Given the description of an element on the screen output the (x, y) to click on. 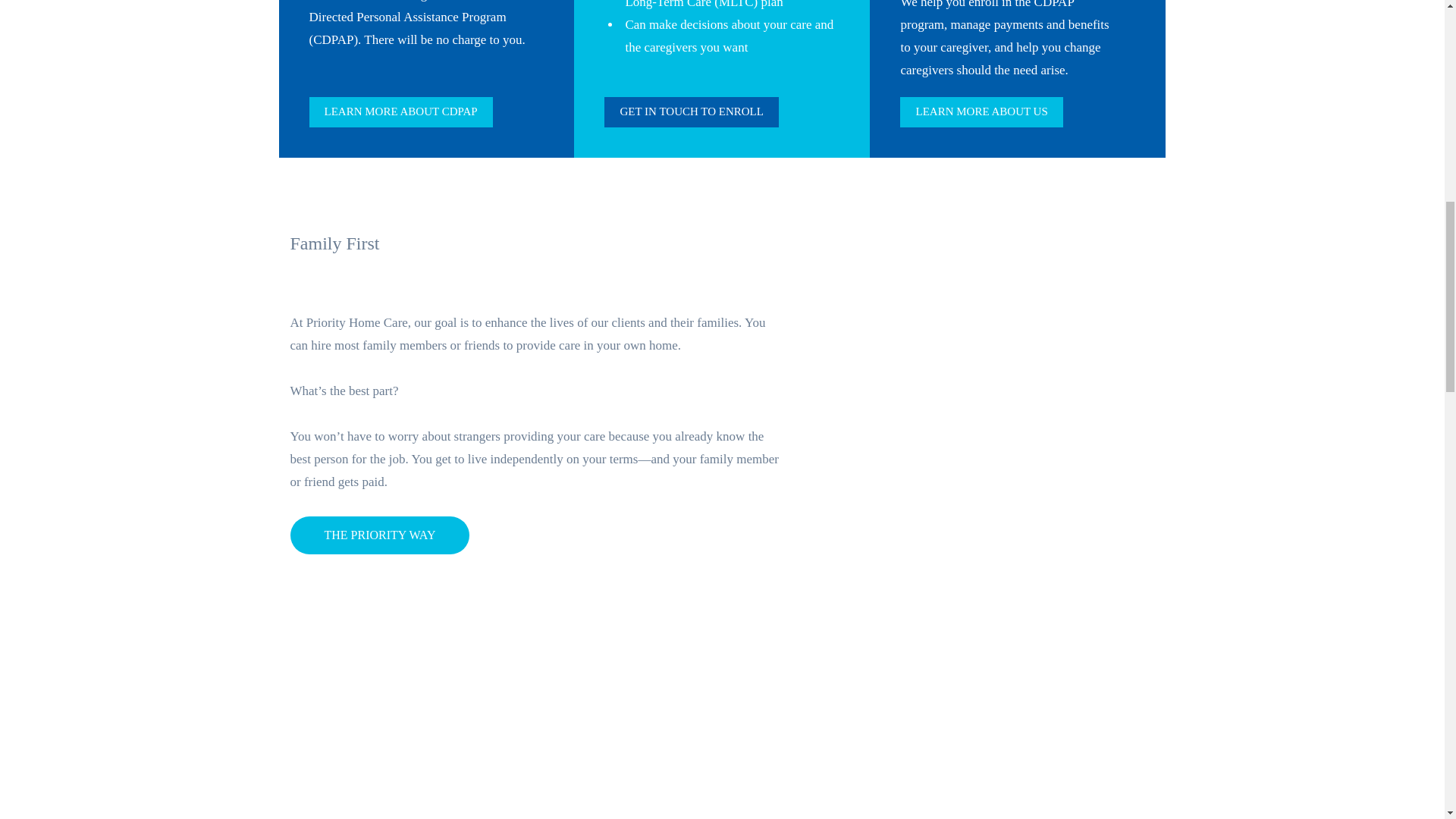
Get In Touch To Enroll (690, 112)
LEARN MORE ABOUT US (980, 112)
THE PRIORITY WAY (378, 535)
The Priority Way (378, 535)
Learn More About Us (980, 112)
LEARN MORE ABOUT CDPAP (400, 112)
Learn More About CDPAP (400, 112)
Get Answers (1069, 798)
GET IN TOUCH TO ENROLL (690, 112)
GET ANSWERS (1069, 798)
